Given the description of an element on the screen output the (x, y) to click on. 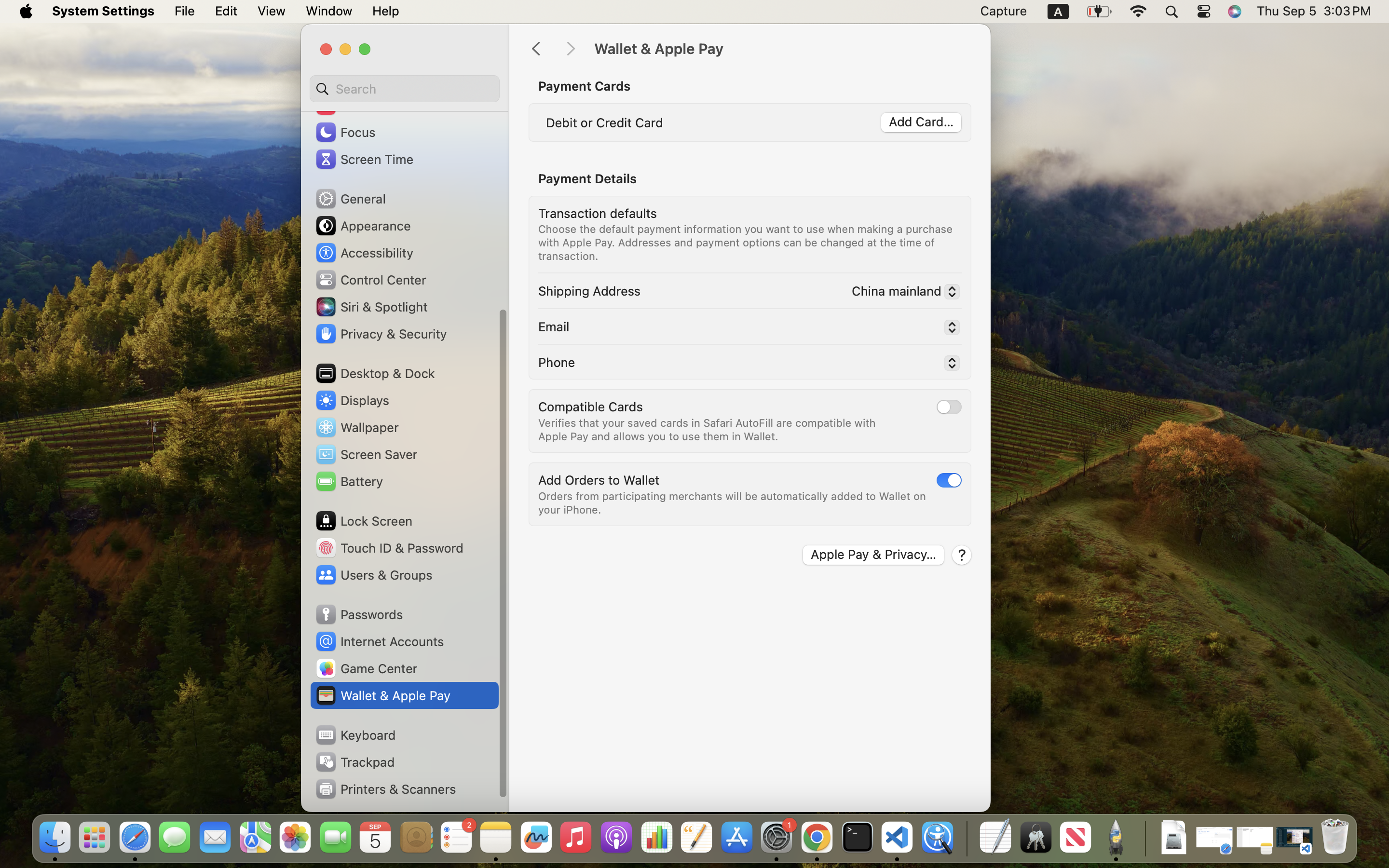
Choose the default payment information you want to use when making a purchase with Apple Pay. Addresses and payment options can be changed at the time of transaction. Element type: AXStaticText (746, 241)
Trackpad Element type: AXStaticText (354, 761)
